Given the description of an element on the screen output the (x, y) to click on. 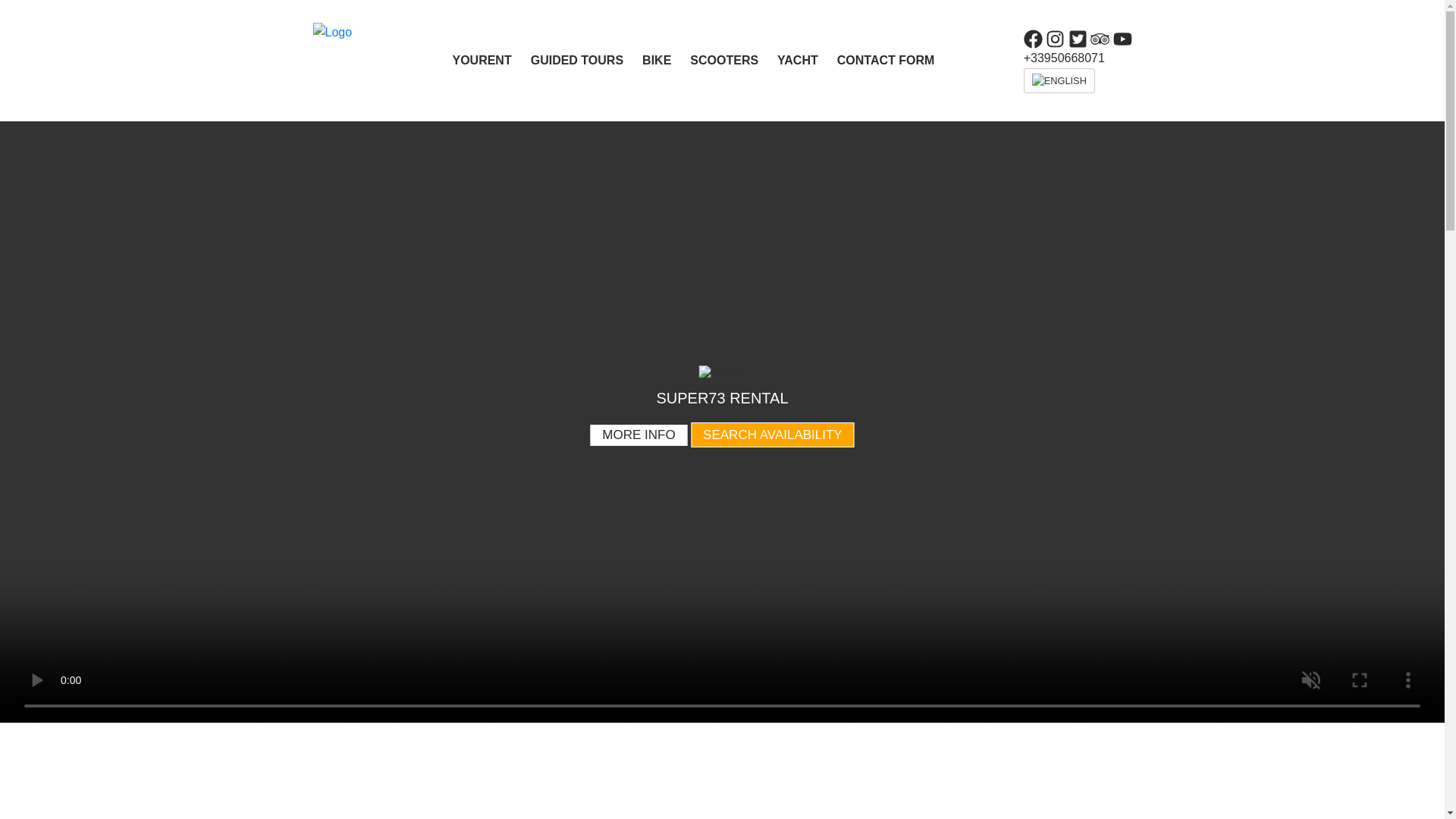
SCOOTERS (733, 60)
SEARCH AVAILABILITY (772, 434)
BIKE (666, 60)
YACHT (807, 60)
YOURENT (490, 60)
MORE INFO (638, 435)
GUIDED TOURS (586, 60)
CONTACT FORM (895, 60)
